Given the description of an element on the screen output the (x, y) to click on. 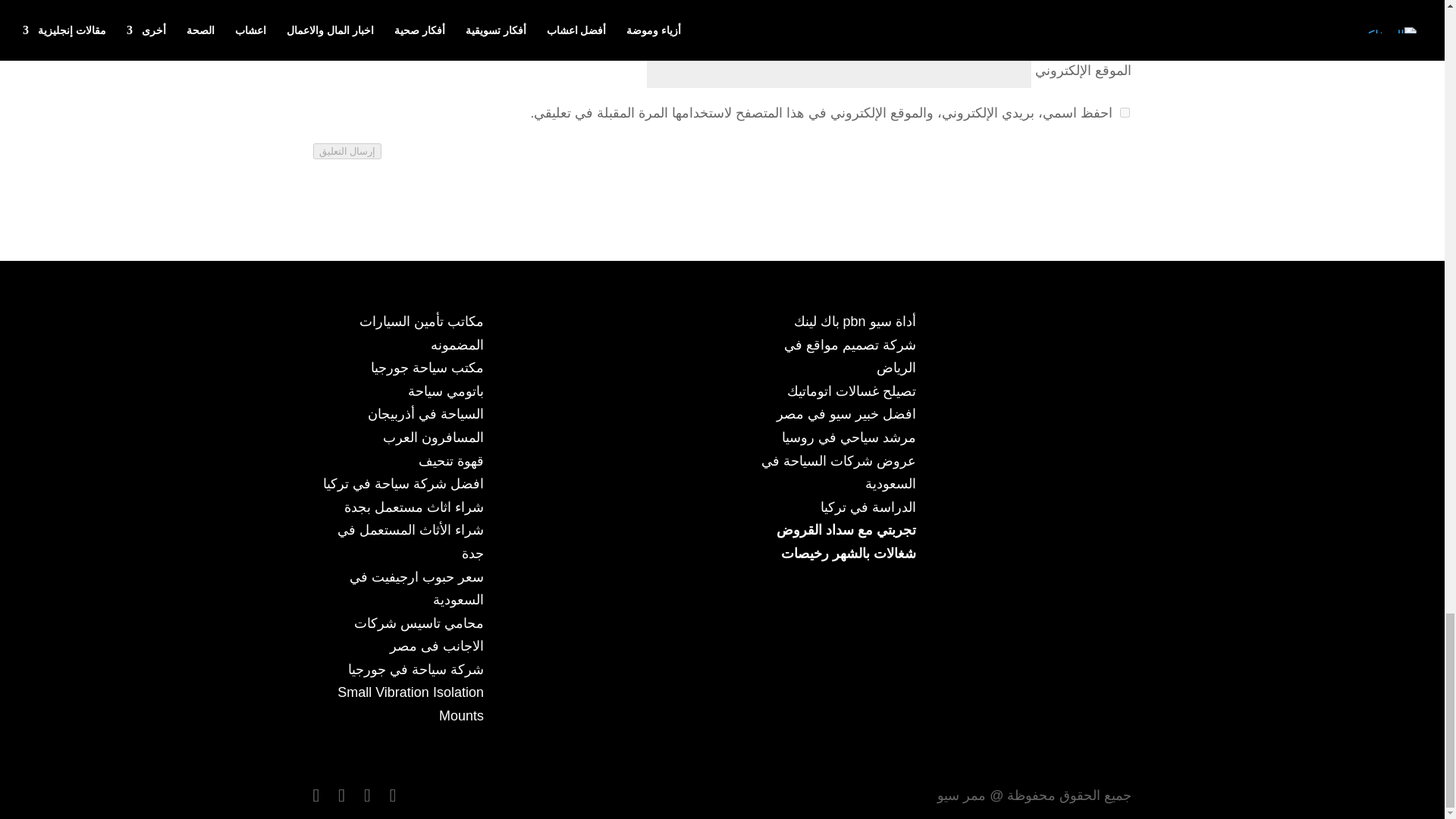
yes (1124, 112)
